Given the description of an element on the screen output the (x, y) to click on. 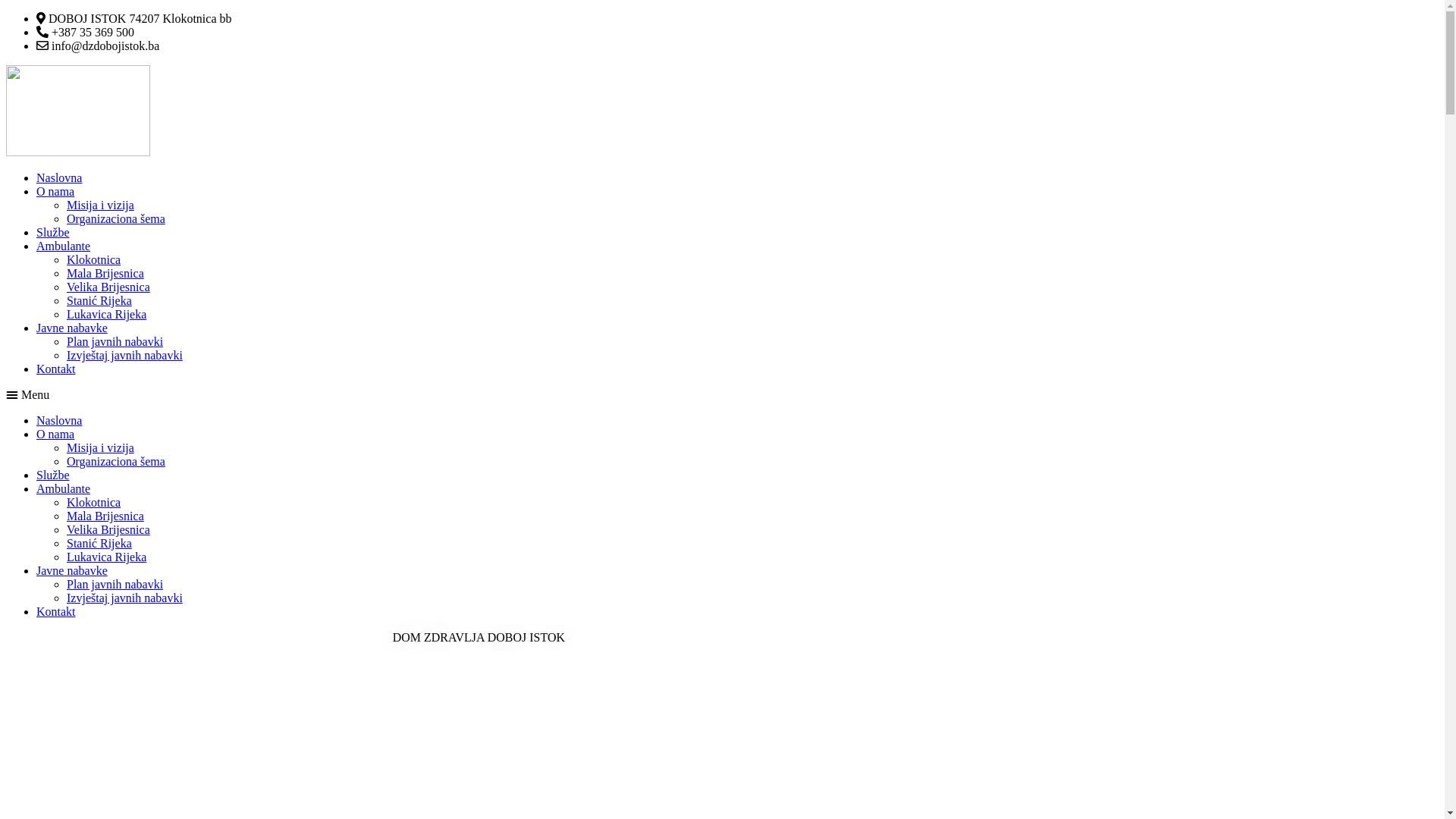
Mala Brijesnica Element type: text (105, 272)
Lukavica Rijeka Element type: text (106, 556)
Mala Brijesnica Element type: text (105, 515)
Javne nabavke Element type: text (71, 327)
Velika Brijesnica Element type: text (108, 286)
Klokotnica Element type: text (93, 259)
Lukavica Rijeka Element type: text (106, 313)
Plan javnih nabavki Element type: text (114, 341)
Klokotnica Element type: text (93, 501)
Misija i vizija Element type: text (100, 204)
O nama Element type: text (55, 191)
Kontakt Element type: text (55, 368)
Kontakt Element type: text (55, 611)
Javne nabavke Element type: text (71, 570)
Naslovna Element type: text (58, 177)
Plan javnih nabavki Element type: text (114, 583)
Naslovna Element type: text (58, 420)
Velika Brijesnica Element type: text (108, 529)
Ambulante Element type: text (63, 488)
Ambulante Element type: text (63, 245)
O nama Element type: text (55, 433)
Misija i vizija Element type: text (100, 447)
